Given the description of an element on the screen output the (x, y) to click on. 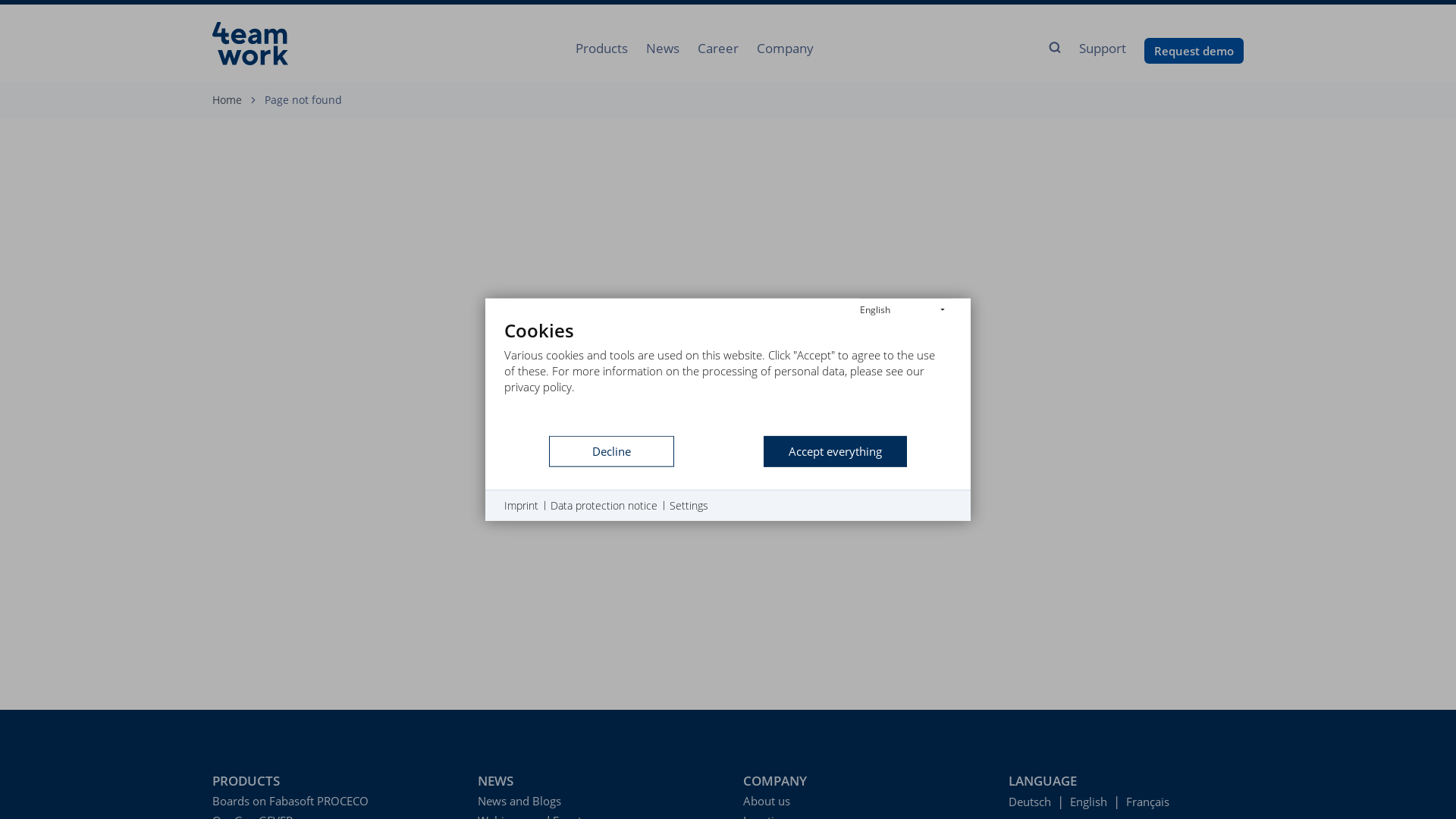
News and Blogs Element type: text (594, 800)
News Element type: text (662, 47)
LANGUAGE Element type: text (1125, 780)
COMPANY Element type: text (860, 780)
Imprint Element type: text (521, 505)
Support Element type: text (1102, 47)
Career Element type: text (717, 47)
Deutsch Element type: text (1029, 801)
Company Element type: text (784, 47)
Request demo Element type: text (1193, 50)
Home Element type: text (226, 99)
Products Element type: text (601, 47)
Boards on Fabasoft PROCECO Element type: text (329, 800)
English Element type: text (1088, 801)
PRODUCTS Element type: text (329, 780)
About us Element type: text (860, 800)
Decline Element type: text (611, 451)
Data protection notice Element type: text (603, 505)
Search Element type: text (1054, 47)
NEWS Element type: text (594, 780)
Accept everything Element type: text (834, 451)
Settings Element type: text (688, 505)
